Given the description of an element on the screen output the (x, y) to click on. 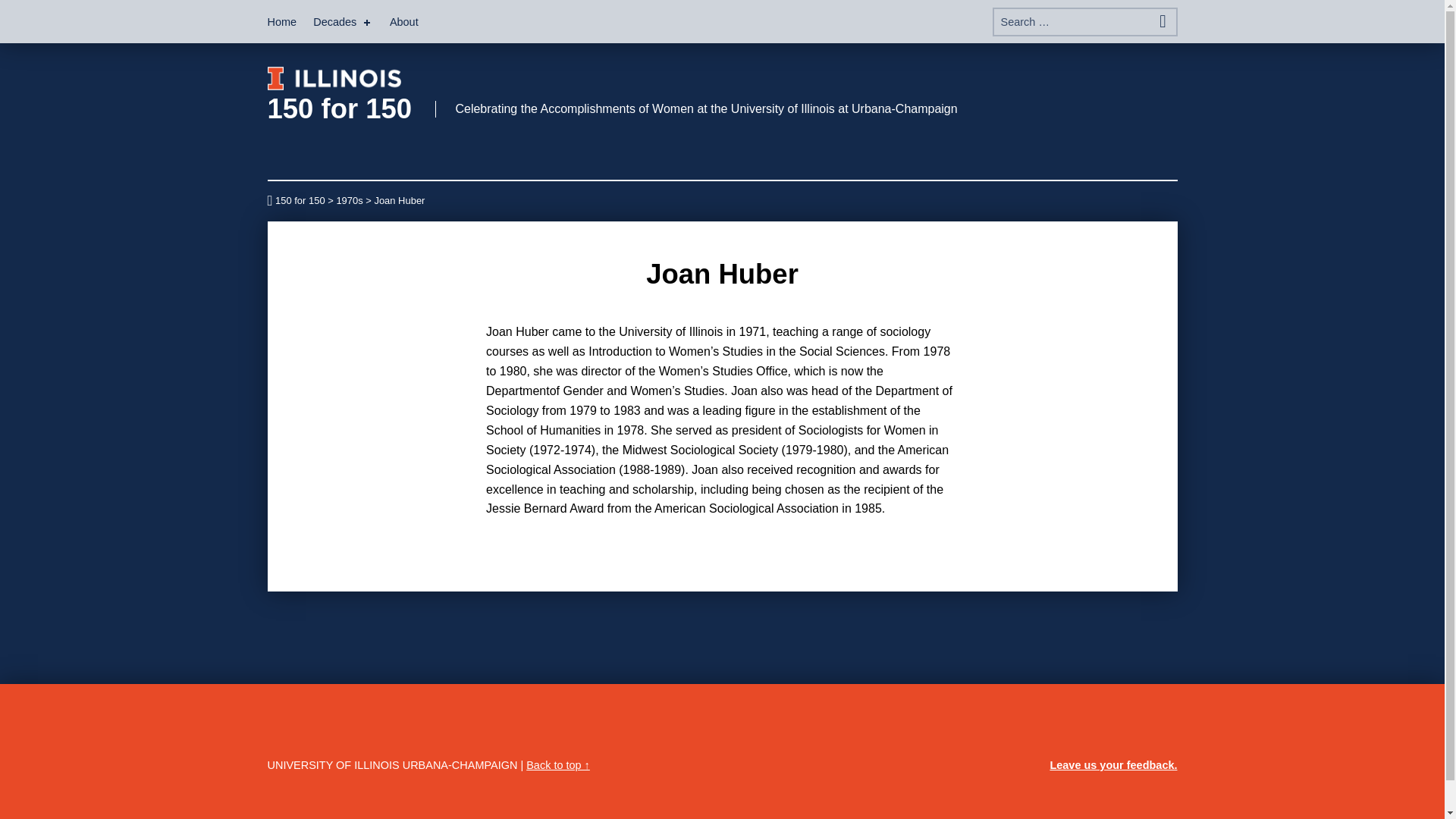
Leave us your feedback. (1112, 764)
Decades (342, 21)
150 for 150 (339, 108)
Go to 1970s. (349, 200)
150 for 150 (295, 200)
Search (1162, 21)
Search (1162, 21)
Go to 150 for 150. (295, 200)
1970s (349, 200)
